Given the description of an element on the screen output the (x, y) to click on. 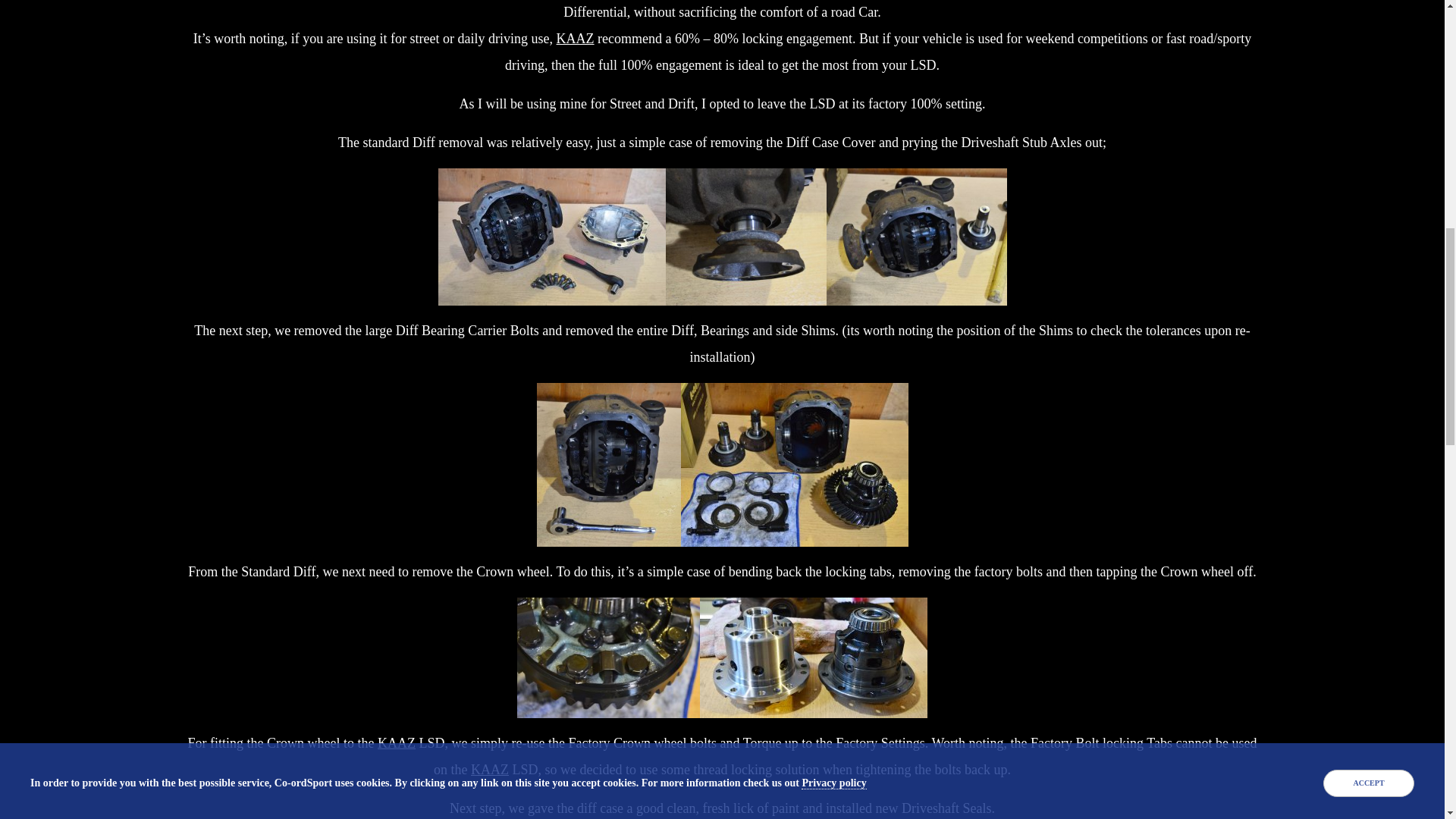
KAAZ (575, 38)
KAAZ (489, 769)
KAAZ (395, 743)
